Given the description of an element on the screen output the (x, y) to click on. 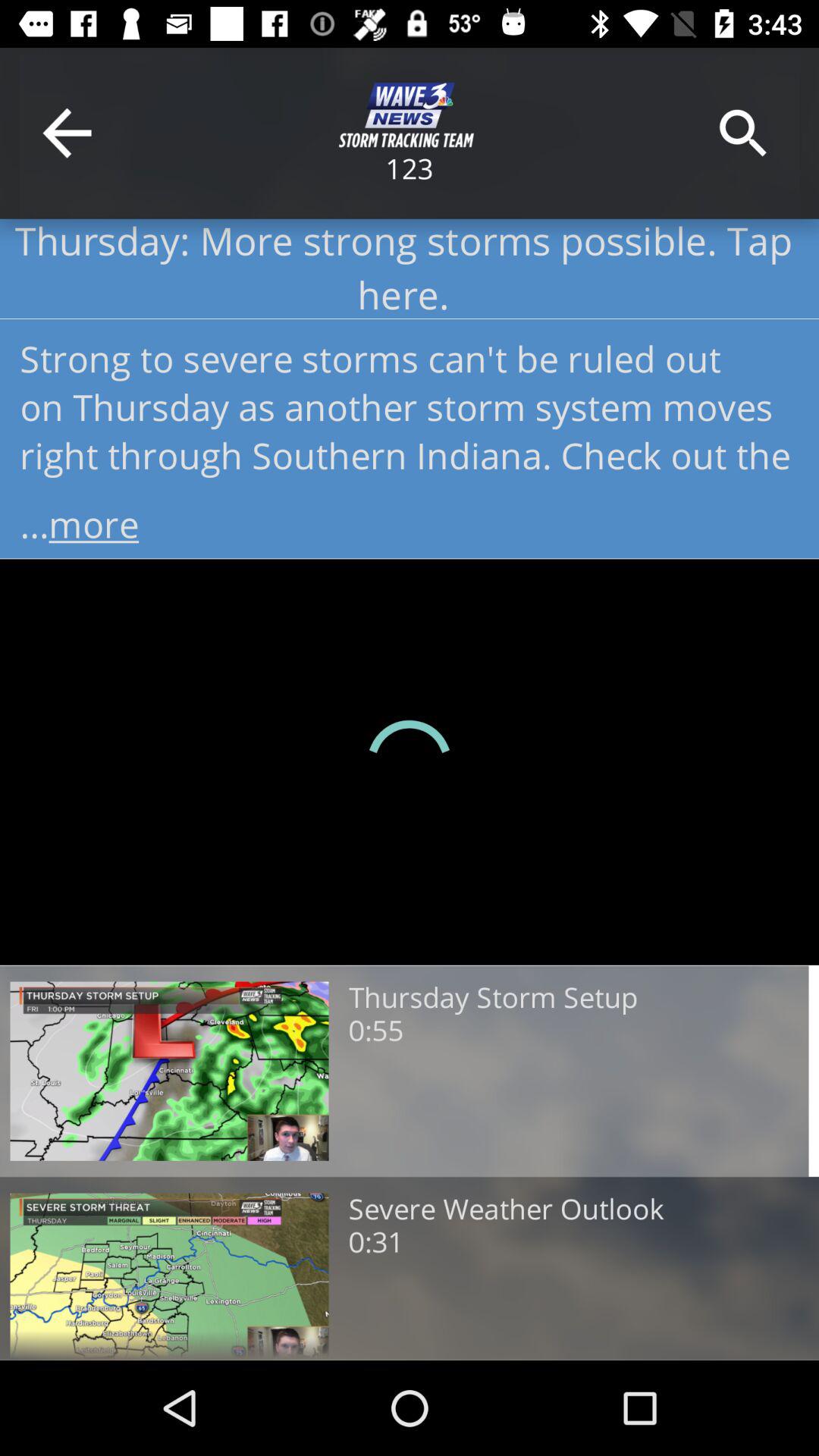
turn on severe weather outlook icon (506, 1209)
